Given the description of an element on the screen output the (x, y) to click on. 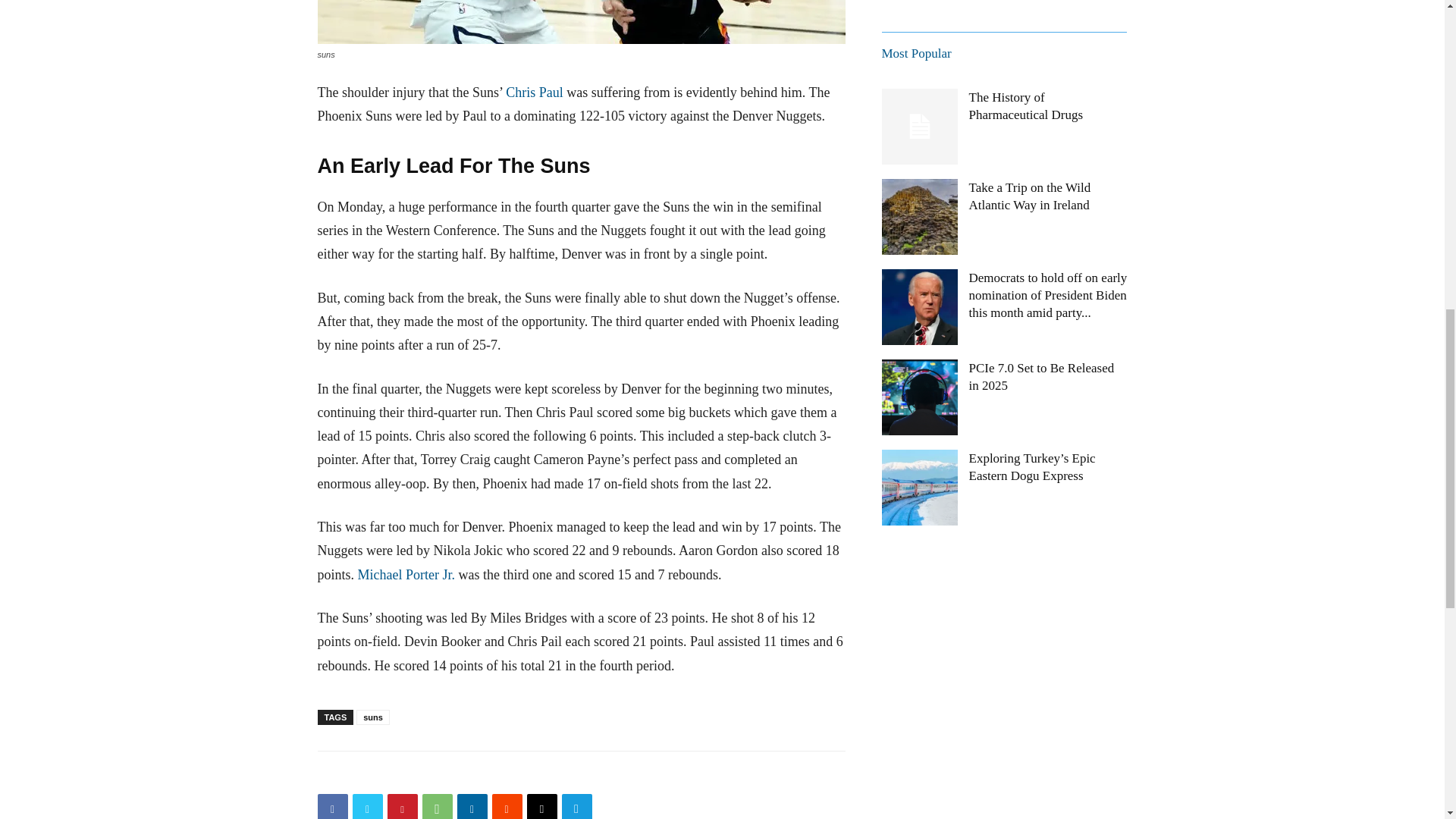
suns (580, 22)
Facebook (332, 806)
Michael Porter Jr. (406, 574)
Email (540, 806)
Pinterest (401, 806)
ReddIt (506, 806)
Twitter (366, 806)
Chris Paul (534, 92)
WhatsApp (436, 806)
Linkedin (471, 806)
